Given the description of an element on the screen output the (x, y) to click on. 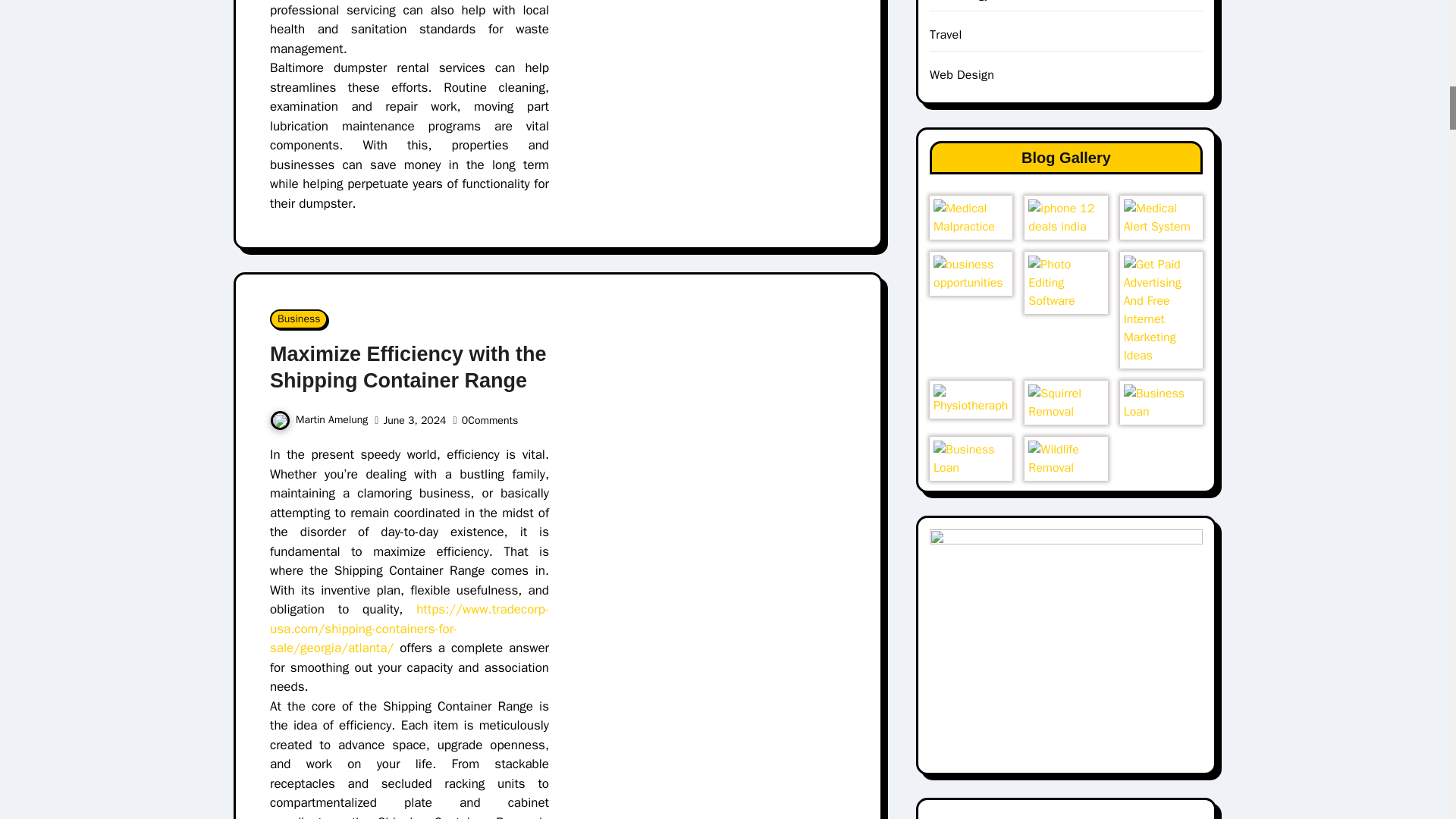
Business (298, 319)
Martin Amelung (318, 419)
June 3, 2024 (415, 420)
Maximize Efficiency with the Shipping Container Range (408, 367)
